Given the description of an element on the screen output the (x, y) to click on. 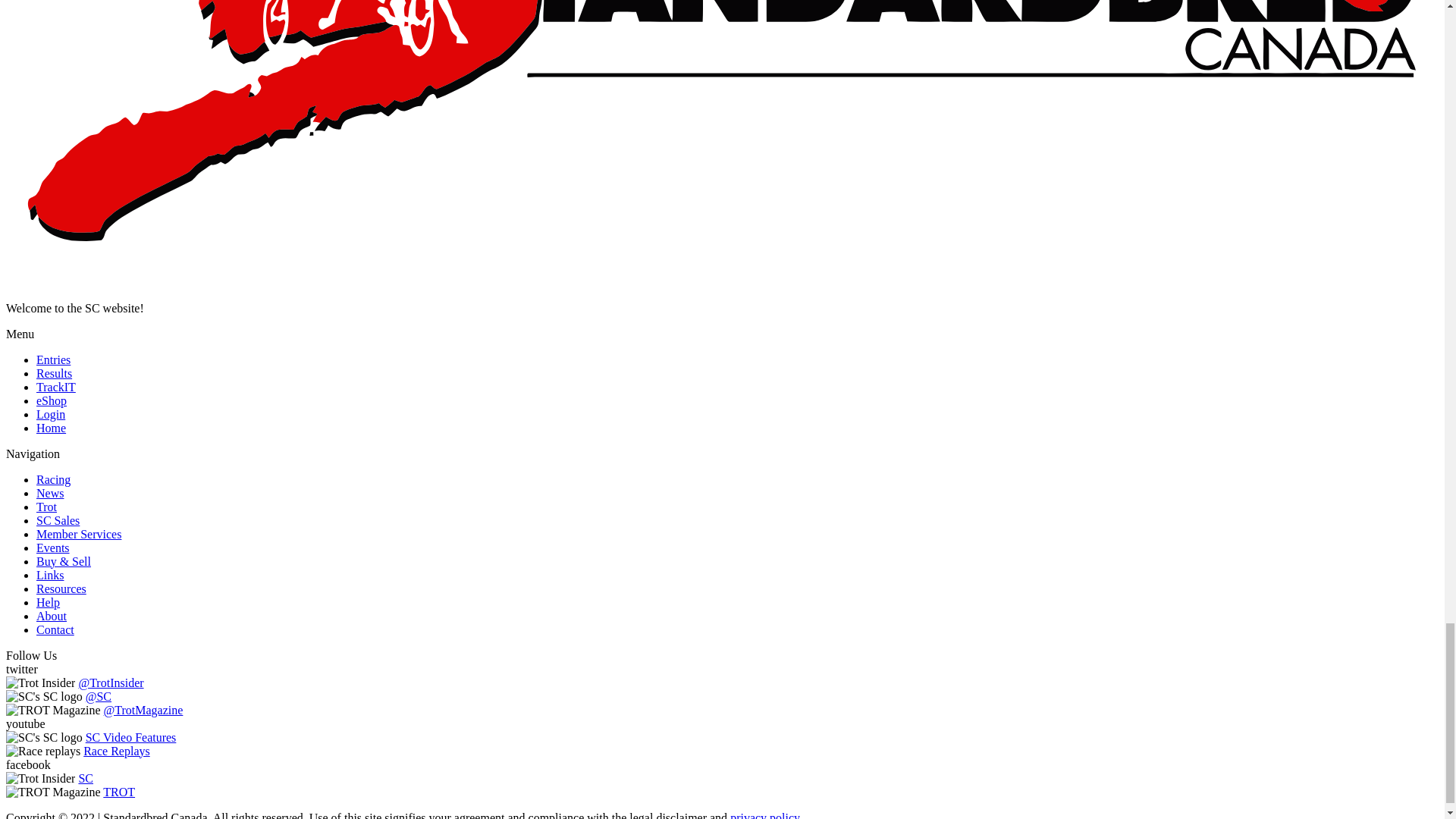
Homepage (50, 427)
